Given the description of an element on the screen output the (x, y) to click on. 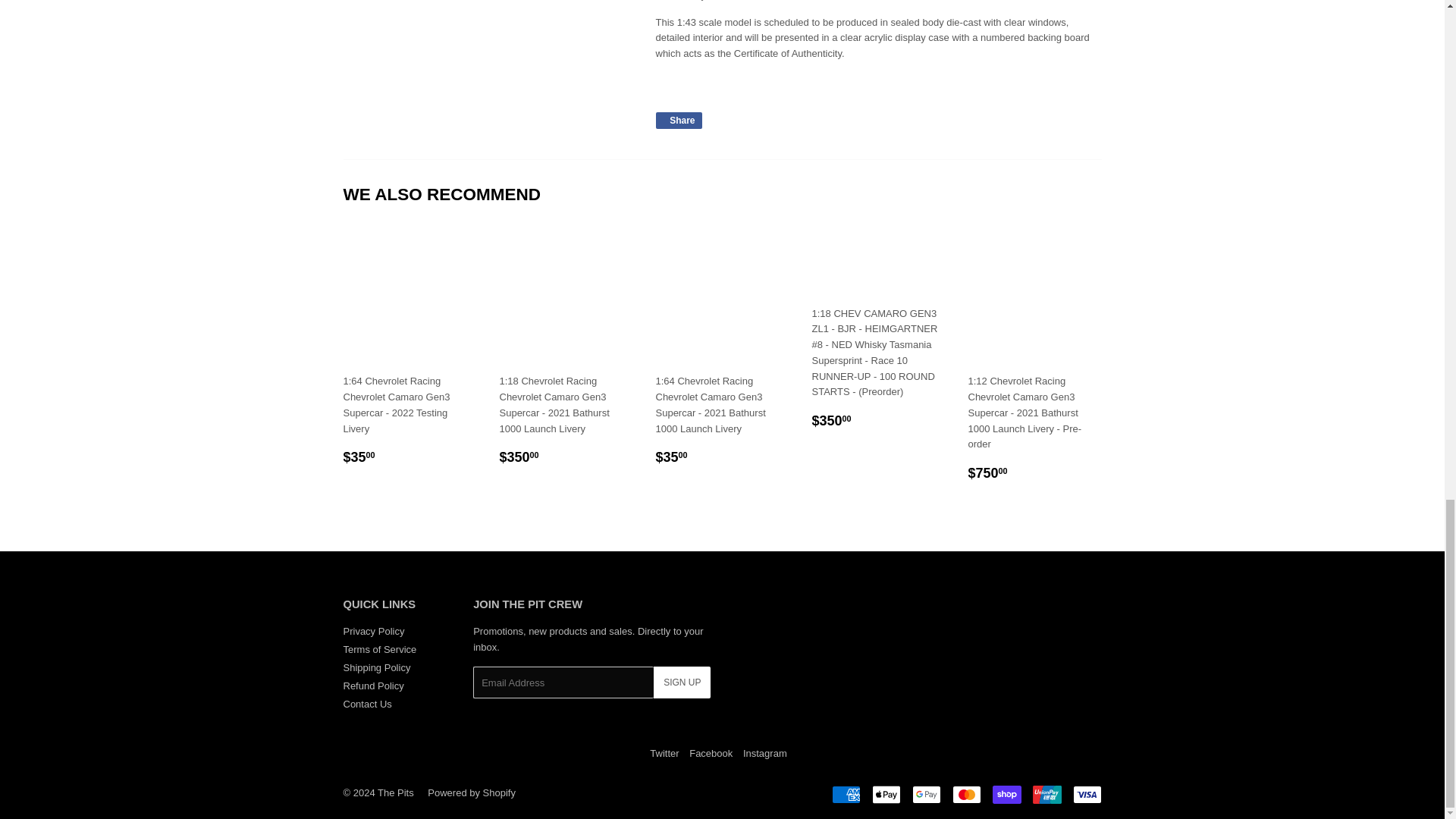
Shop Pay (1005, 794)
Union Pay (1046, 794)
The Pits on Facebook (710, 753)
American Express (845, 794)
The Pits on Instagram (764, 753)
Mastercard (966, 794)
Visa (1085, 794)
Apple Pay (886, 794)
The Pits on Twitter (663, 753)
Share on Facebook (678, 120)
Google Pay (925, 794)
